Given the description of an element on the screen output the (x, y) to click on. 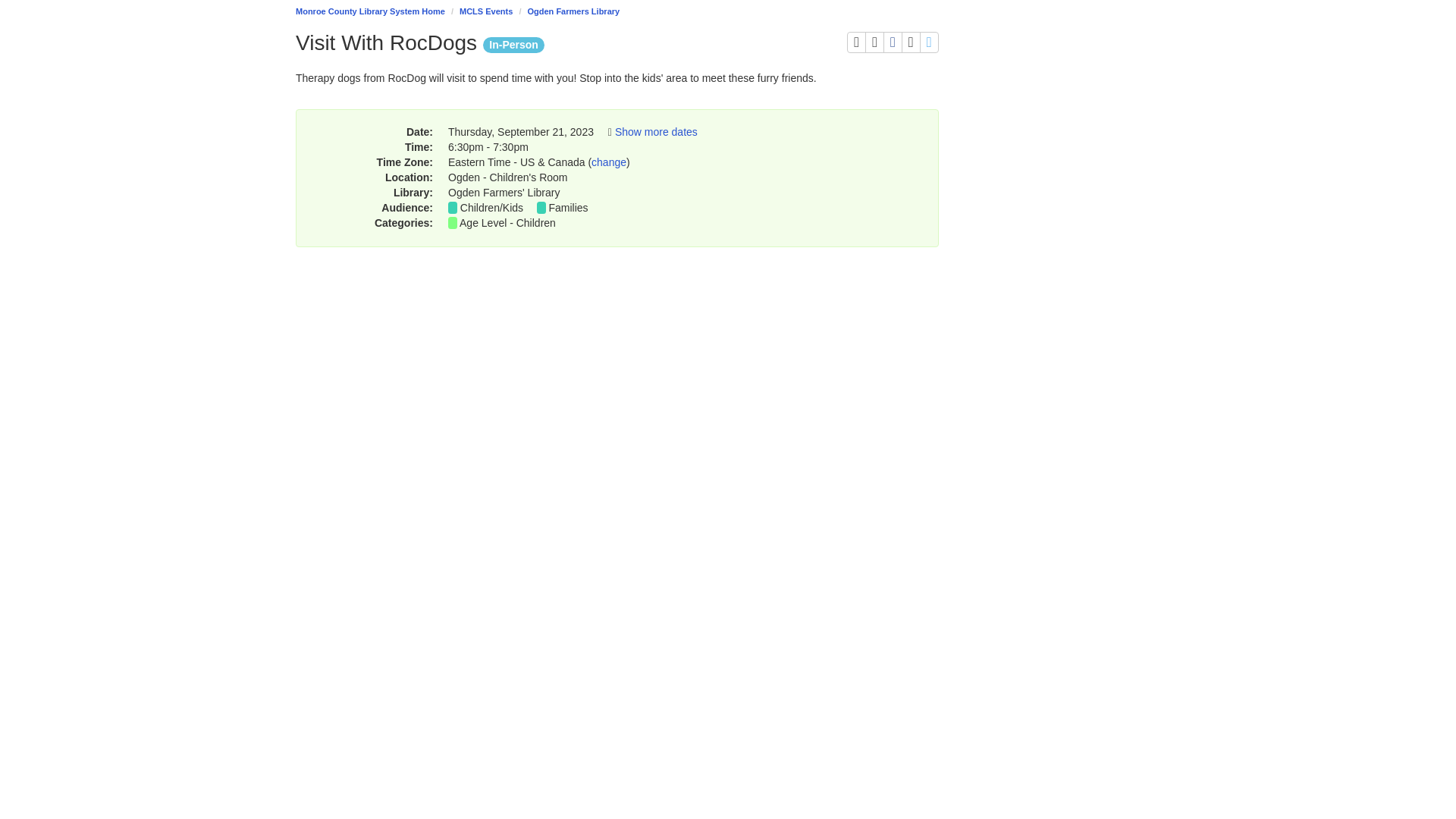
change (608, 162)
Show more dates (910, 42)
Print the page (655, 132)
Age Level - Children (856, 42)
Ogden Farmers Library (508, 223)
Add to Calendar using iCal (573, 10)
Add to a Calendar using iCal (873, 42)
Share on Facebook (873, 42)
Families (892, 42)
